Given the description of an element on the screen output the (x, y) to click on. 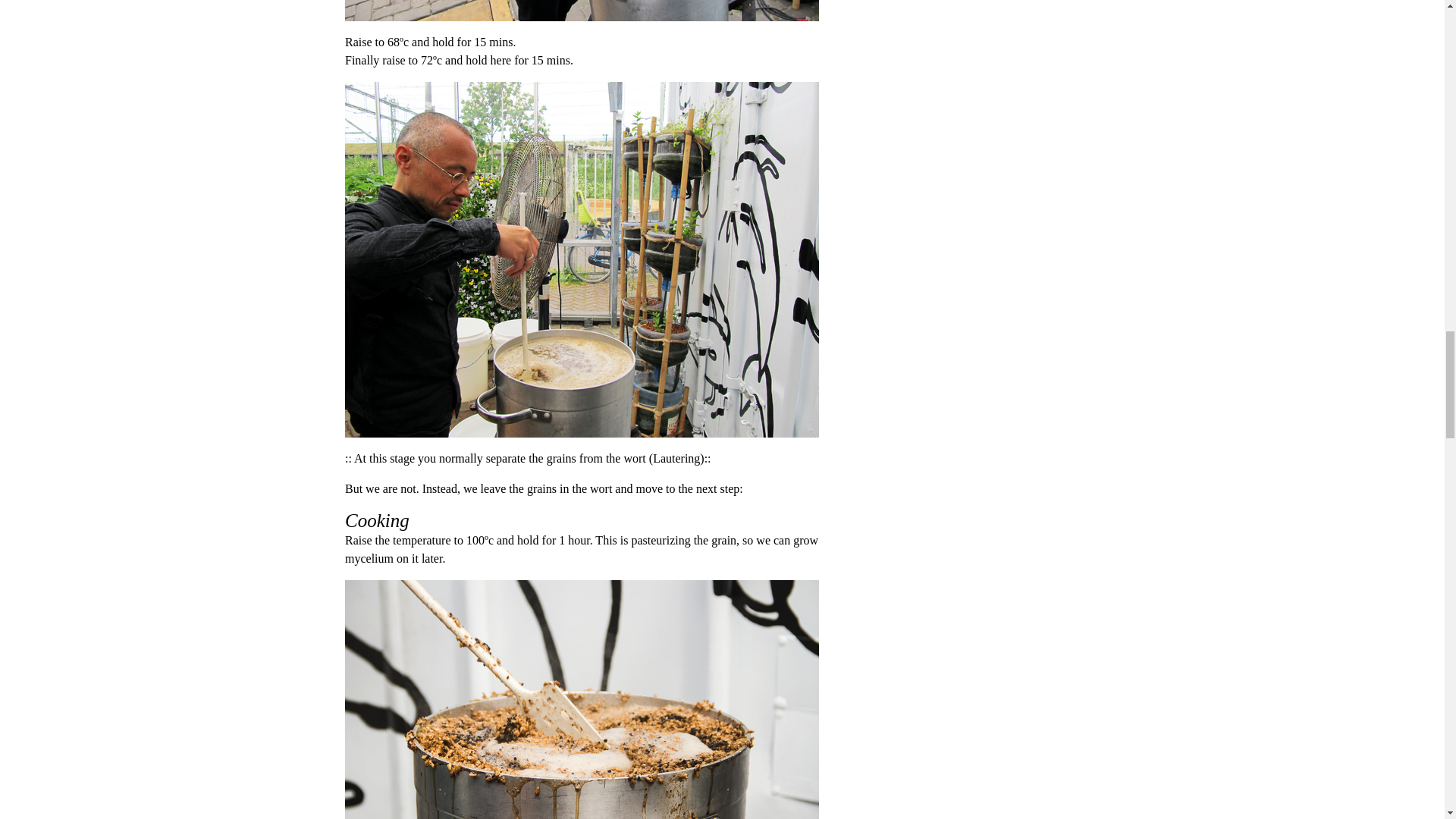
Lex Mashing (589, 10)
Brewing a stout beer (589, 699)
